Given the description of an element on the screen output the (x, y) to click on. 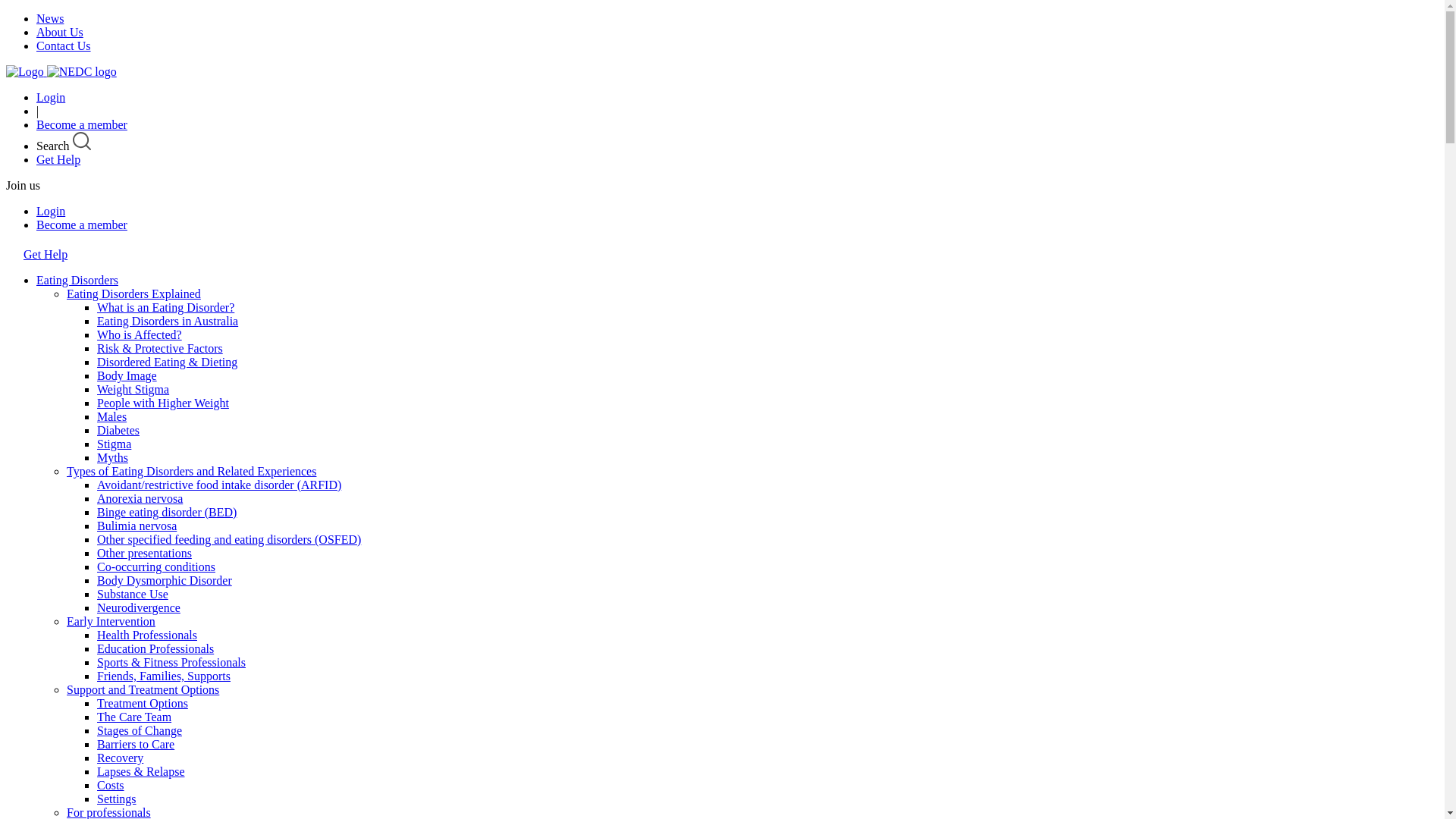
Risk & Protective Factors Element type: text (159, 348)
Support and Treatment Options Element type: text (142, 689)
Co-occurring conditions Element type: text (156, 566)
Diabetes Element type: text (118, 429)
Get Help Element type: text (45, 253)
Costs Element type: text (110, 784)
| Element type: text (37, 110)
Body Image Element type: text (126, 375)
Login Element type: text (50, 97)
Become a member Element type: text (81, 224)
Early Intervention Element type: text (110, 621)
What is an Eating Disorder? Element type: text (165, 307)
Myths Element type: text (112, 457)
Become a member Element type: text (81, 124)
Join us Element type: text (23, 184)
Body Dysmorphic Disorder Element type: text (164, 580)
The Care Team Element type: text (134, 716)
Anorexia nervosa Element type: text (139, 498)
Login Element type: text (50, 210)
Barriers to Care Element type: text (135, 743)
People with Higher Weight Element type: text (163, 402)
Substance Use Element type: text (132, 593)
Get Help Element type: text (58, 159)
Contact Us Element type: text (63, 45)
Settings Element type: text (116, 798)
Lapses & Relapse Element type: text (141, 771)
Recovery Element type: text (120, 757)
Eating Disorders Element type: text (77, 279)
Other specified feeding and eating disorders (OSFED) Element type: text (228, 539)
Avoidant/restrictive food intake disorder (ARFID) Element type: text (219, 484)
Bulimia nervosa Element type: text (136, 525)
Other presentations Element type: text (144, 552)
Treatment Options Element type: text (142, 702)
Education Professionals Element type: text (155, 648)
Binge eating disorder (BED) Element type: text (166, 511)
Neurodivergence Element type: text (138, 607)
About Us Element type: text (59, 31)
Disordered Eating & Dieting Element type: text (167, 361)
Stigma Element type: text (114, 443)
Friends, Families, Supports Element type: text (163, 675)
Males Element type: text (111, 416)
Eating Disorders Explained Element type: text (133, 293)
Sports & Fitness Professionals Element type: text (171, 661)
Types of Eating Disorders and Related Experiences Element type: text (191, 470)
Stages of Change Element type: text (139, 730)
News Element type: text (49, 18)
Health Professionals Element type: text (147, 634)
Weight Stigma Element type: text (133, 388)
Eating Disorders in Australia Element type: text (167, 320)
Search Element type: text (63, 145)
Who is Affected? Element type: text (139, 334)
